Given the description of an element on the screen output the (x, y) to click on. 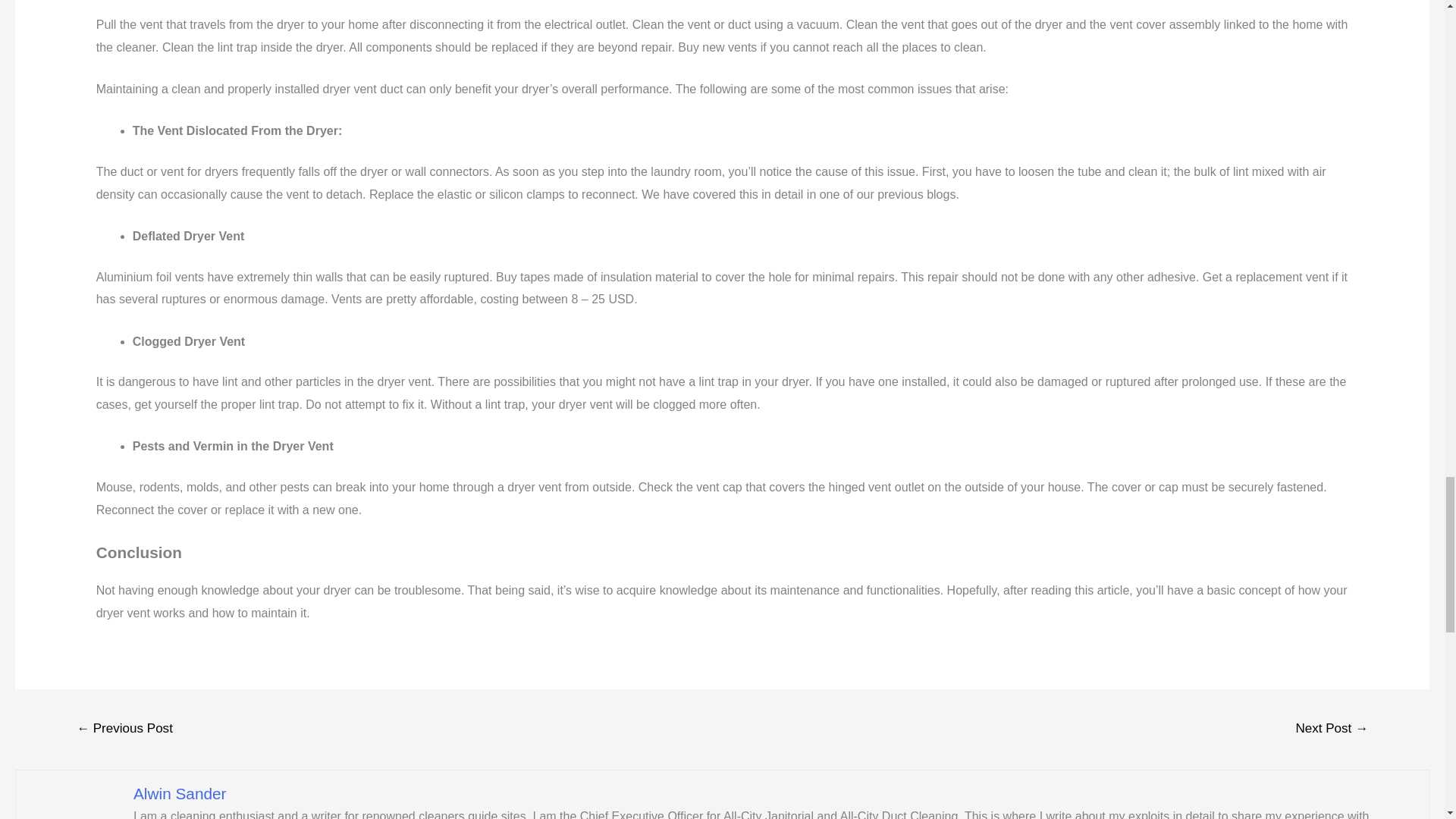
Alwin Sander (180, 793)
View all posts by Alwin Sander (180, 793)
